Given the description of an element on the screen output the (x, y) to click on. 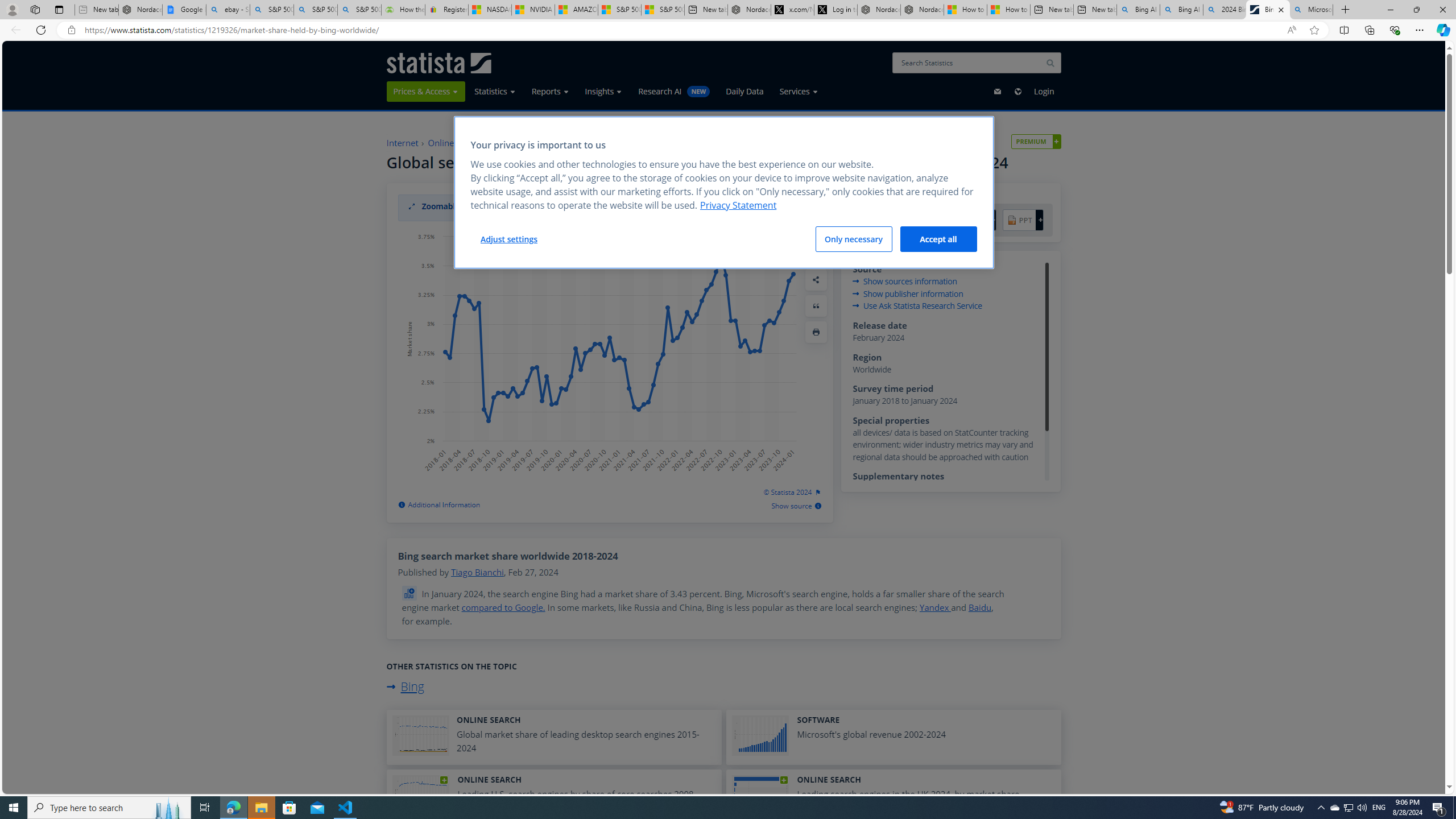
Log in to X / X (835, 9)
PNG + (975, 220)
Online Search (455, 142)
Share on Social Media (816, 279)
S&P 500, Nasdaq end lower, weighed by Nvidia dip | Watch (662, 9)
Additional Information (438, 504)
Services (798, 91)
Insights (603, 91)
Only necessary (853, 239)
PPT + (1022, 220)
